Given the description of an element on the screen output the (x, y) to click on. 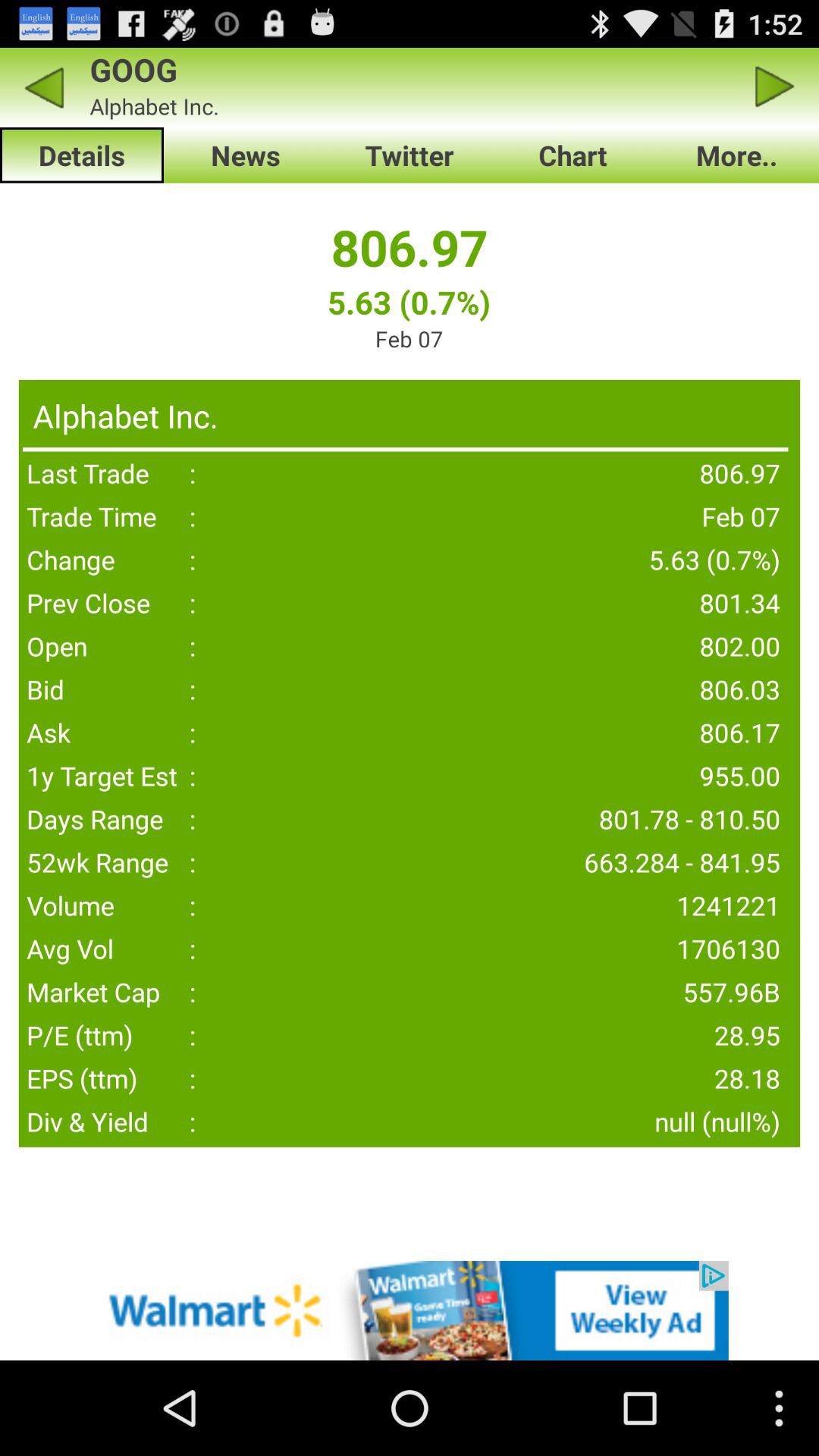
click on advertisements (409, 1310)
